Given the description of an element on the screen output the (x, y) to click on. 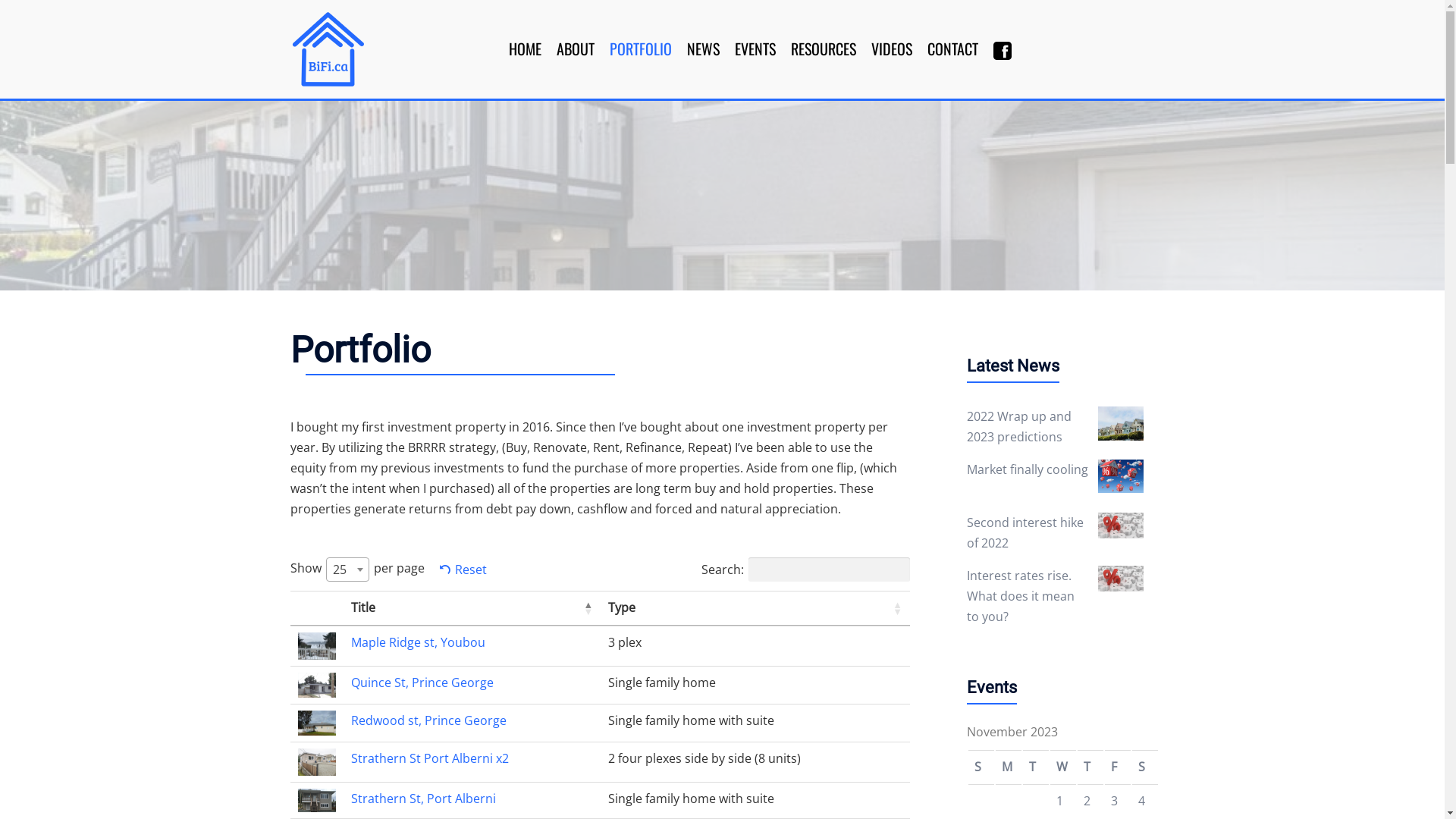
EVENTS Element type: text (754, 49)
VIDEOS Element type: text (891, 49)
Redwood st, Prince George Element type: text (427, 720)
Quince St, Prince George Element type: text (421, 682)
Reset Element type: text (462, 569)
NEWS Element type: text (703, 49)
Screen Shot 2022-05-05 at 9.58.27 AM Element type: hover (316, 761)
By Investors For Investors Element type: hover (327, 47)
Search Element type: text (47, 18)
HOME Element type: text (524, 49)
Screen Shot 2022-03-25 at 11.42.07 AM Element type: hover (316, 684)
Strathern St, Port Alberni Element type: text (422, 798)
Strathern St Port Alberni x2 Element type: text (429, 757)
00606_195zmfLGF2b_1200x900 Element type: hover (316, 723)
Screen Shot 2022-05-02 at 10.12.13 AM Element type: hover (316, 800)
PORTFOLIO Element type: text (640, 49)
ABOUT Element type: text (575, 49)
2022 Wrap up and 2023 predictions Element type: text (1018, 426)
CONTACT Element type: text (952, 49)
Skip to content Element type: text (0, 0)
RESOURCES Element type: text (823, 49)
Interest rates rise. What does it mean to you? Element type: text (1020, 595)
Second interest hike of 2022 Element type: text (1024, 532)
Market finally cooling Element type: text (1027, 469)
1 Element type: text (1059, 800)
Maple Ridge st, Youbou Element type: text (417, 641)
Screen Shot 2022-05-02 at 10.21.27 AM Element type: hover (316, 645)
